Given the description of an element on the screen output the (x, y) to click on. 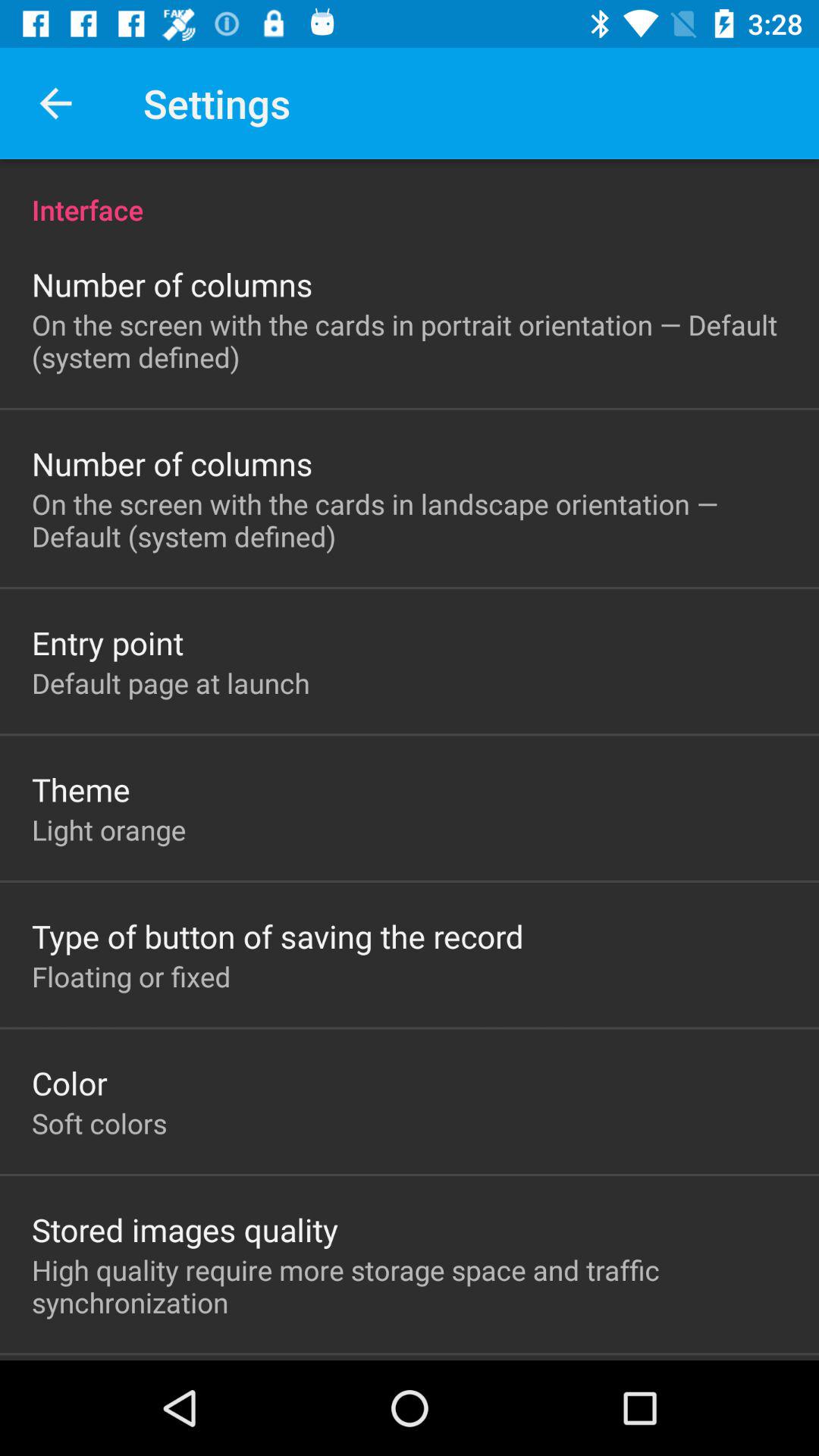
press the item above theme (170, 682)
